Given the description of an element on the screen output the (x, y) to click on. 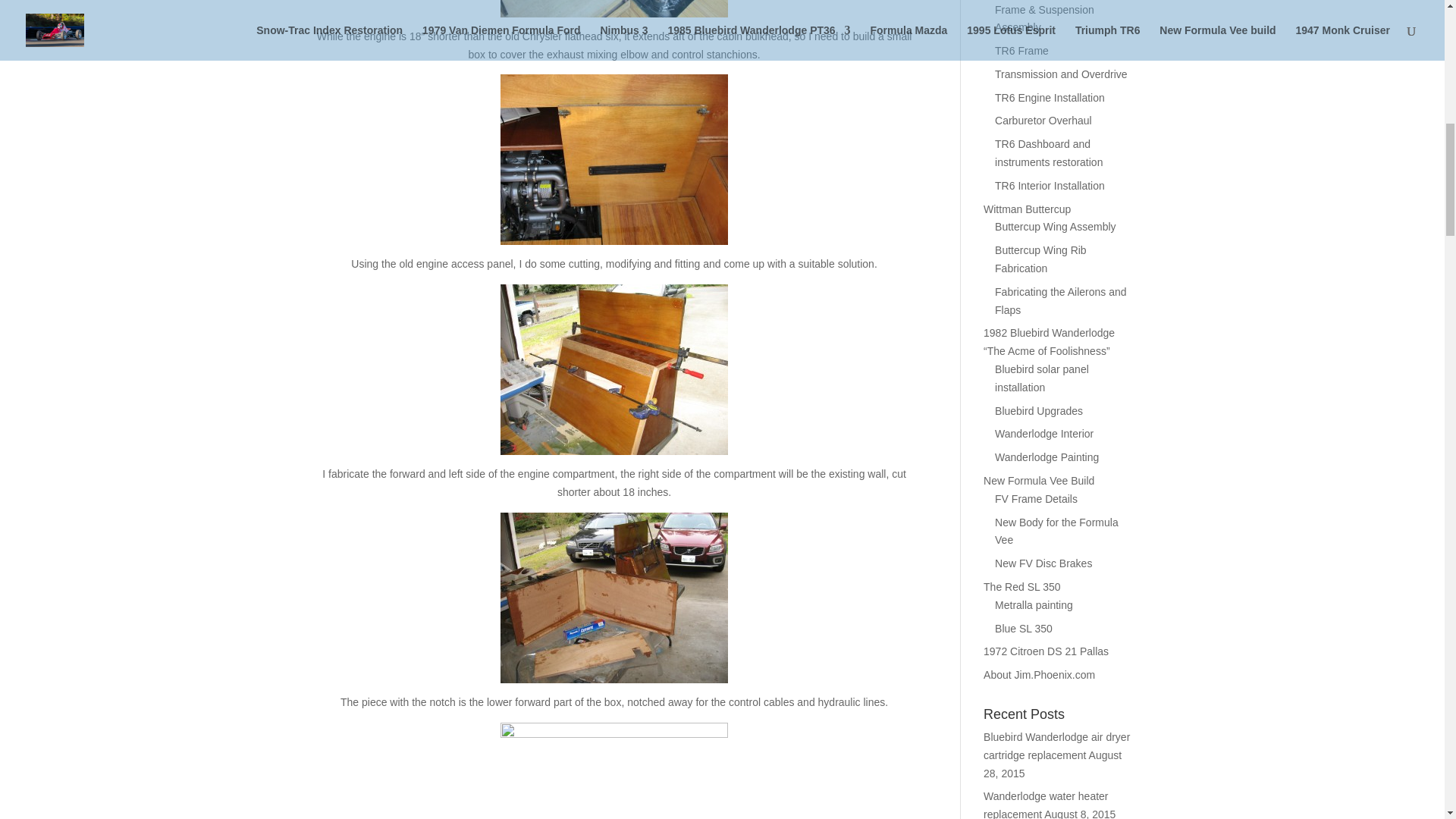
insul3 (614, 8)
insul6 (614, 597)
insul4 (614, 159)
insul8 (614, 770)
insul5 (614, 369)
